Given the description of an element on the screen output the (x, y) to click on. 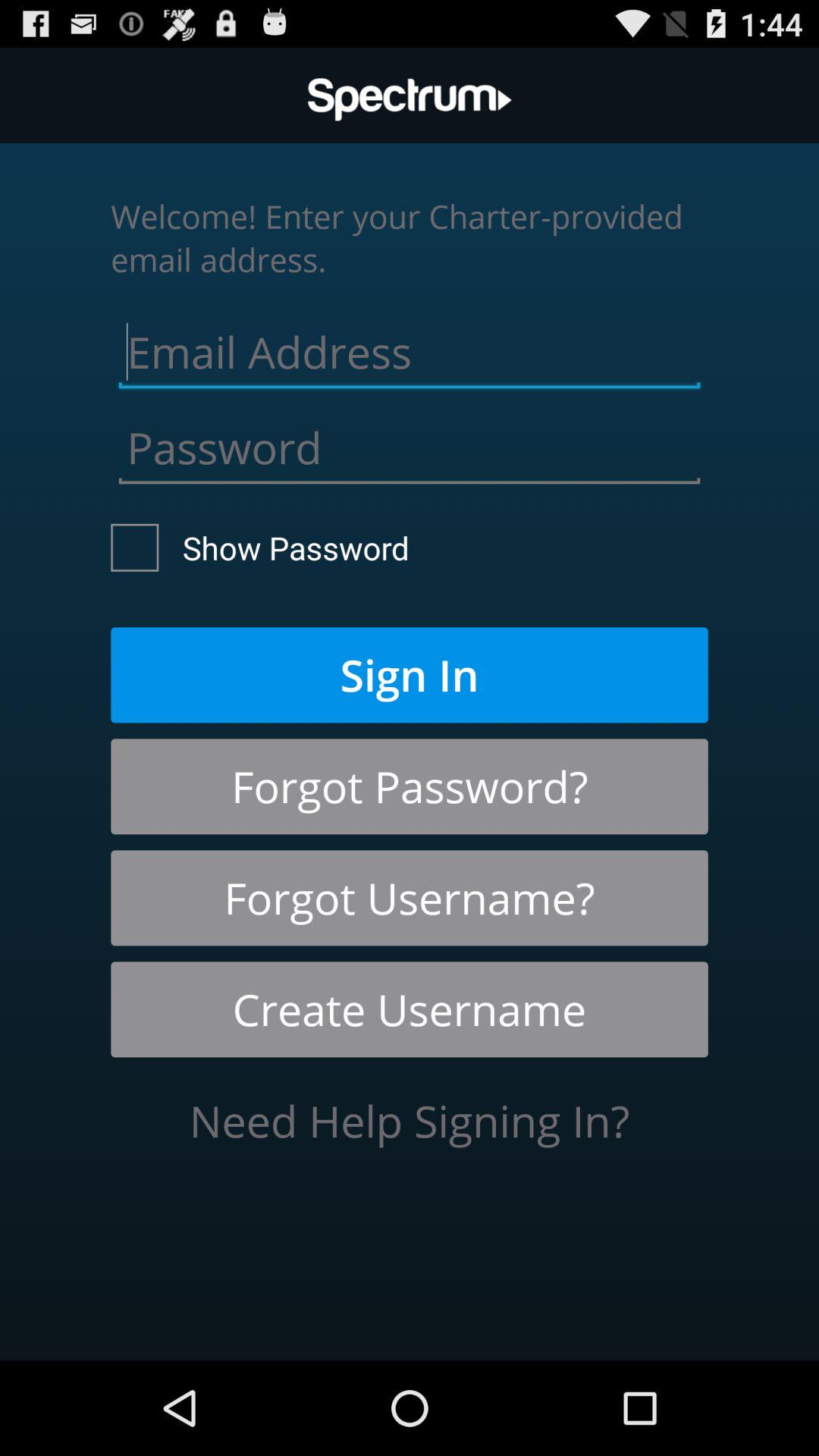
swipe until the create username icon (409, 1009)
